Given the description of an element on the screen output the (x, y) to click on. 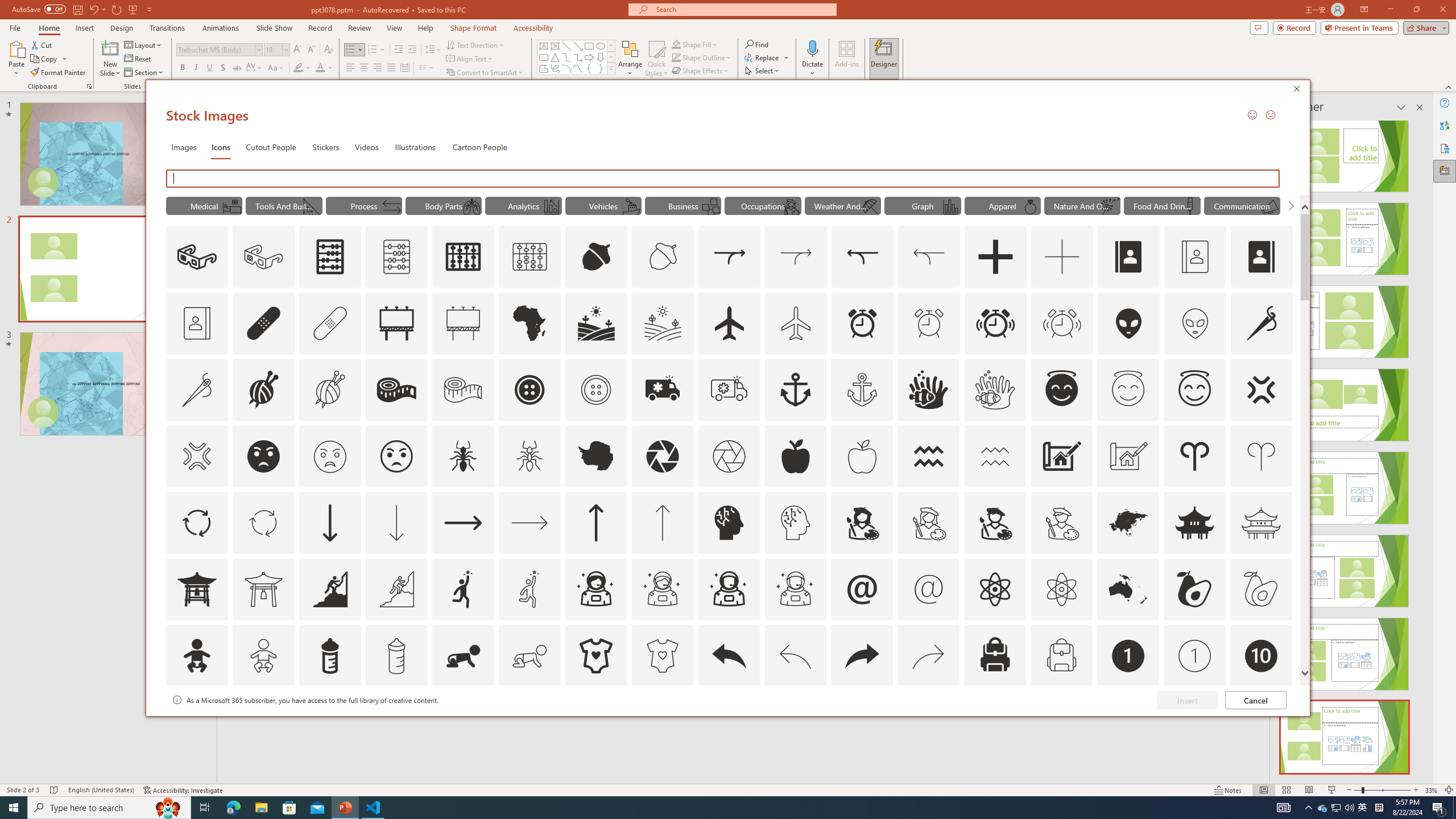
Icons (220, 146)
AutomationID: Icons_Apple (795, 455)
Thumbnail (1283, 699)
AutomationID: Icons_Aquarius_M (995, 455)
AutomationID: Icons_AlienFace (1128, 323)
Images (183, 146)
AutomationID: Icons_Badge4 (529, 721)
"Weather And Seasons" Icons. (842, 205)
